Given the description of an element on the screen output the (x, y) to click on. 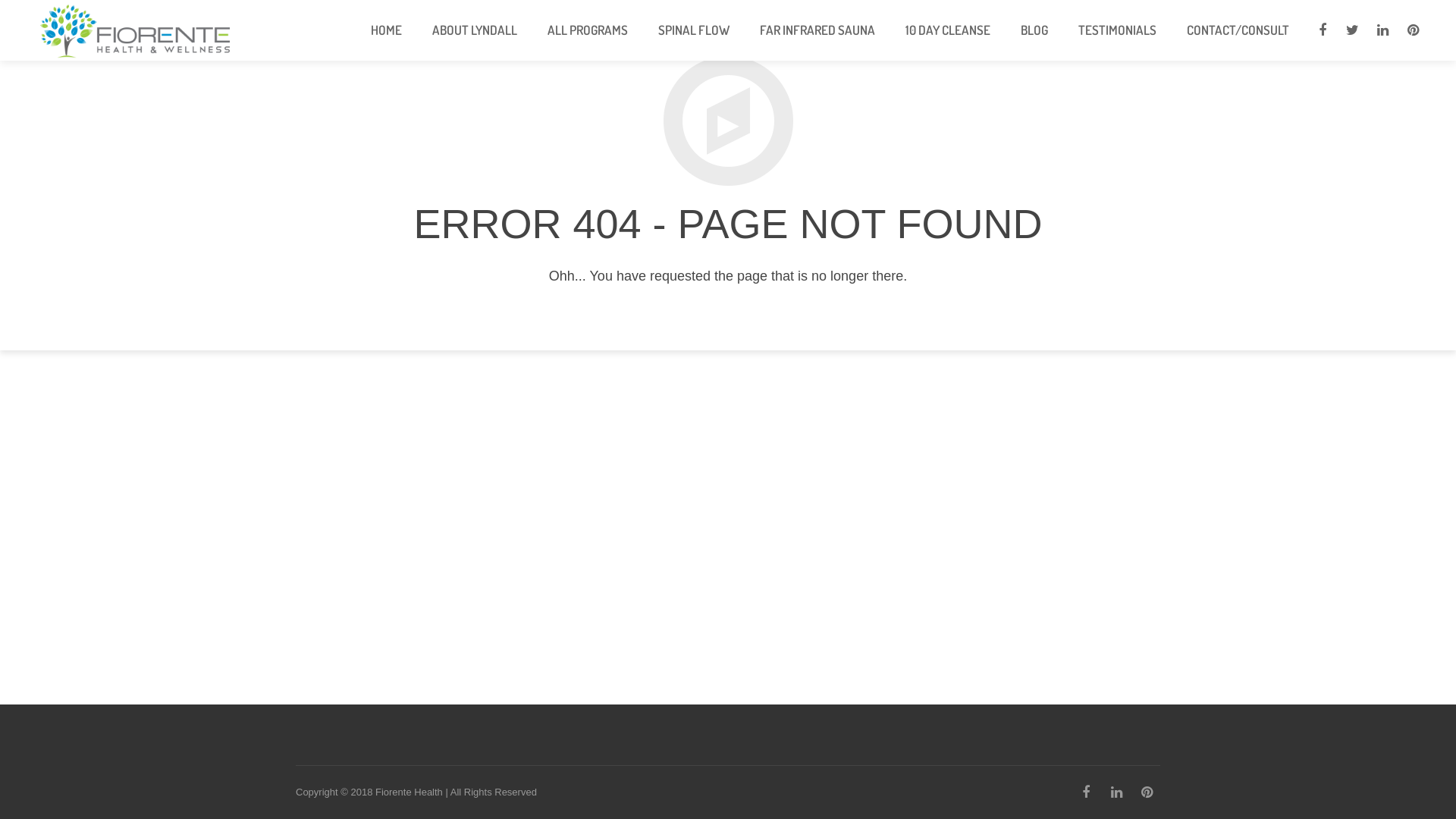
HOME Element type: text (386, 30)
TESTIMONIALS Element type: text (1117, 30)
ABOUT LYNDALL Element type: text (474, 30)
SPINAL FLOW Element type: text (693, 30)
10 DAY CLEANSE Element type: text (947, 30)
FAR INFRARED SAUNA Element type: text (817, 30)
CONTACT/CONSULT Element type: text (1237, 30)
ALL PROGRAMS Element type: text (587, 30)
BLOG Element type: text (1034, 30)
